Given the description of an element on the screen output the (x, y) to click on. 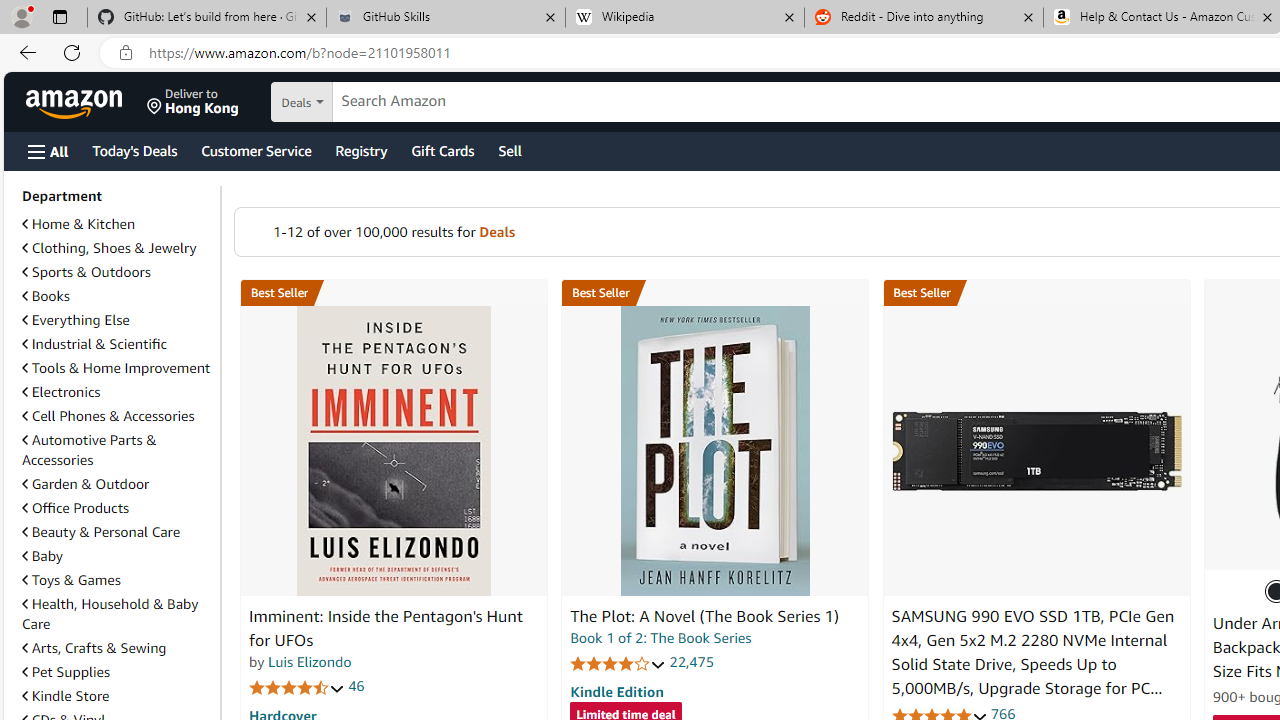
Books (45, 296)
Luis Elizondo (309, 662)
Kindle Edition (616, 691)
Home & Kitchen (78, 224)
22,475 (691, 662)
Baby (41, 556)
Garden & Outdoor (85, 484)
4.7 out of 5 stars (297, 686)
Today's Deals (134, 150)
Kindle Store (117, 696)
Clothing, Shoes & Jewelry (109, 248)
Cell Phones & Accessories (117, 416)
Electronics (117, 391)
Deliver to Hong Kong (193, 101)
